Given the description of an element on the screen output the (x, y) to click on. 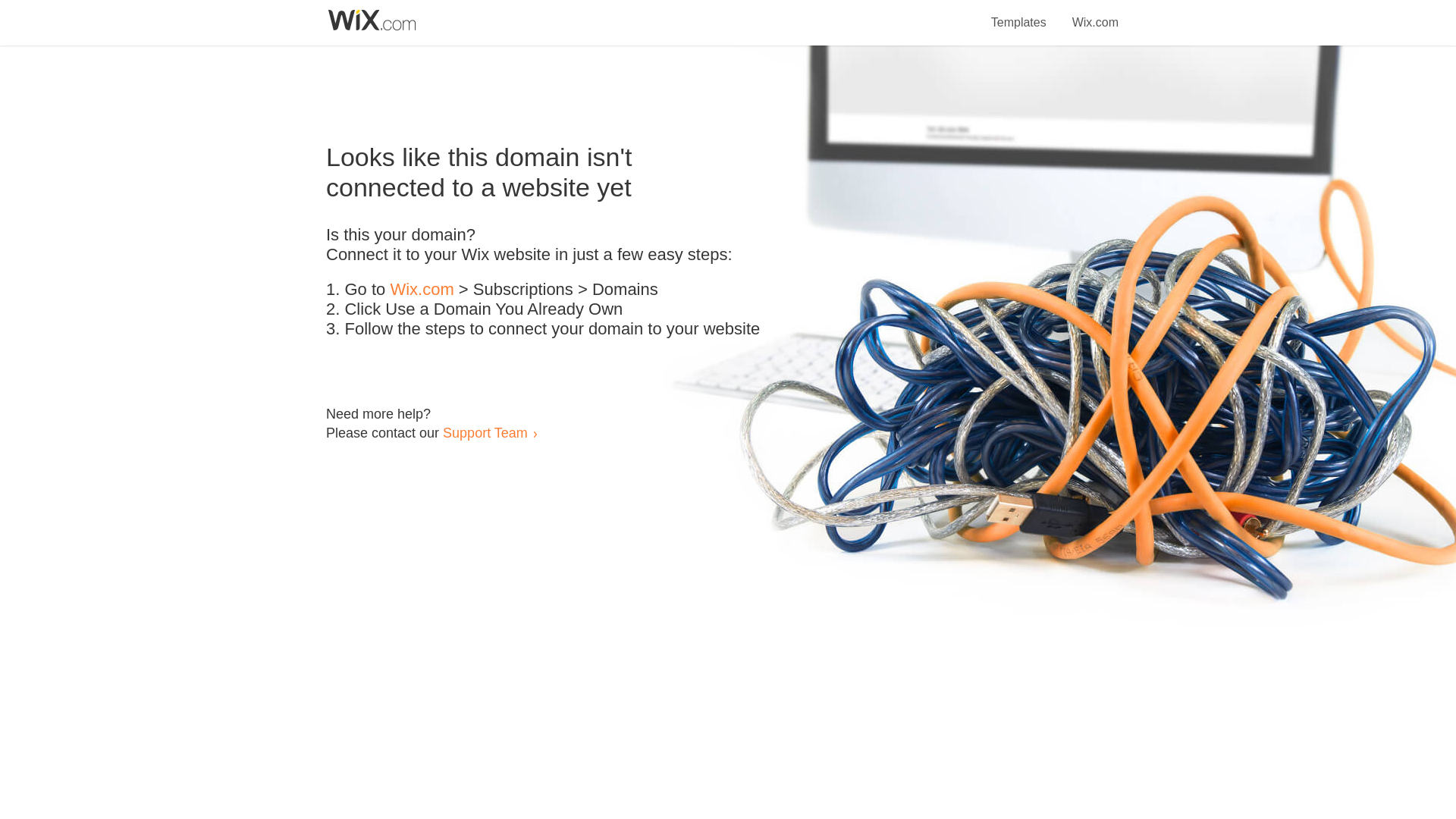
Wix.com (421, 289)
Templates (1018, 14)
Support Team (484, 432)
Wix.com (1095, 14)
